Given the description of an element on the screen output the (x, y) to click on. 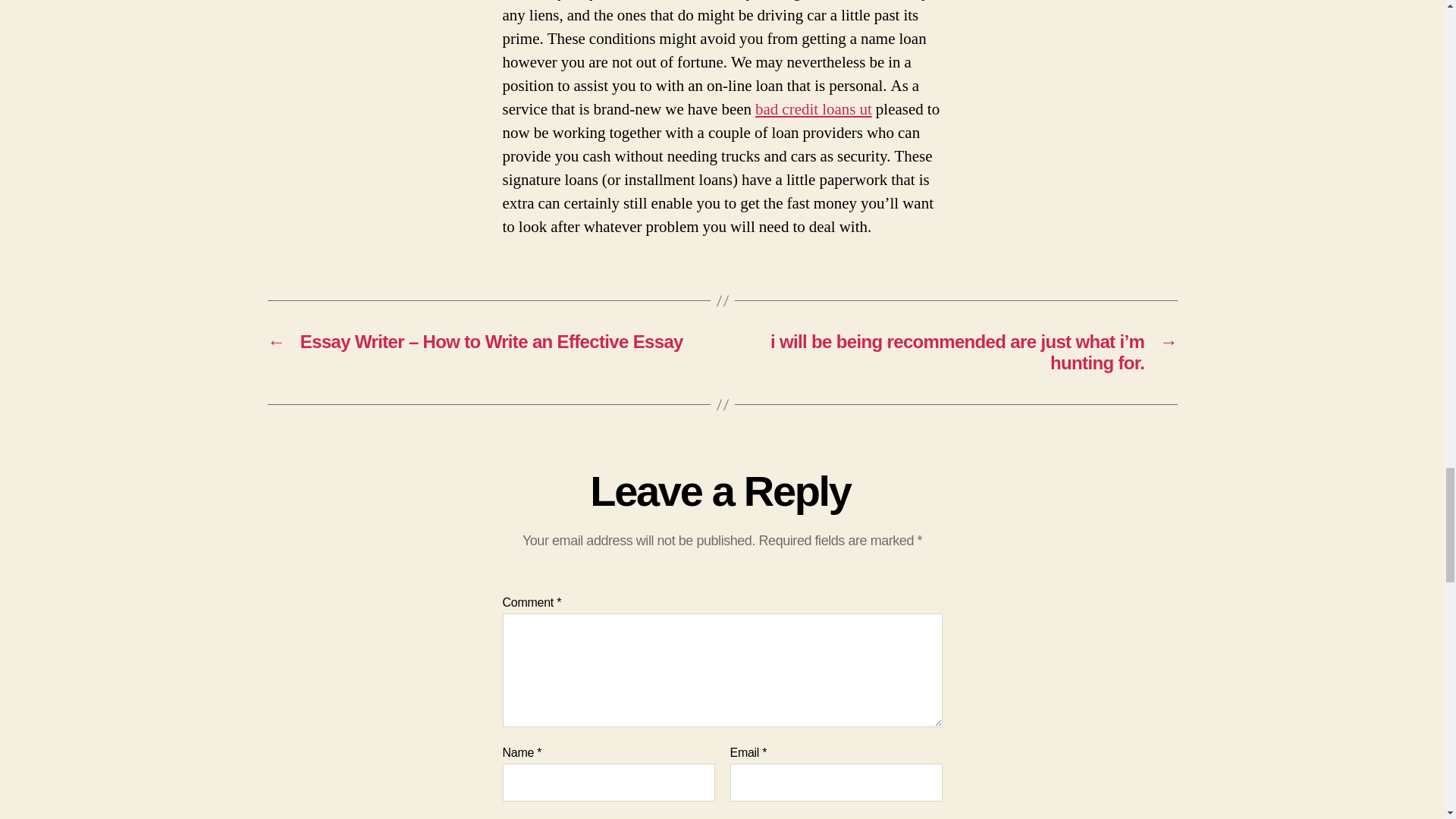
bad credit loans ut (813, 109)
